Given the description of an element on the screen output the (x, y) to click on. 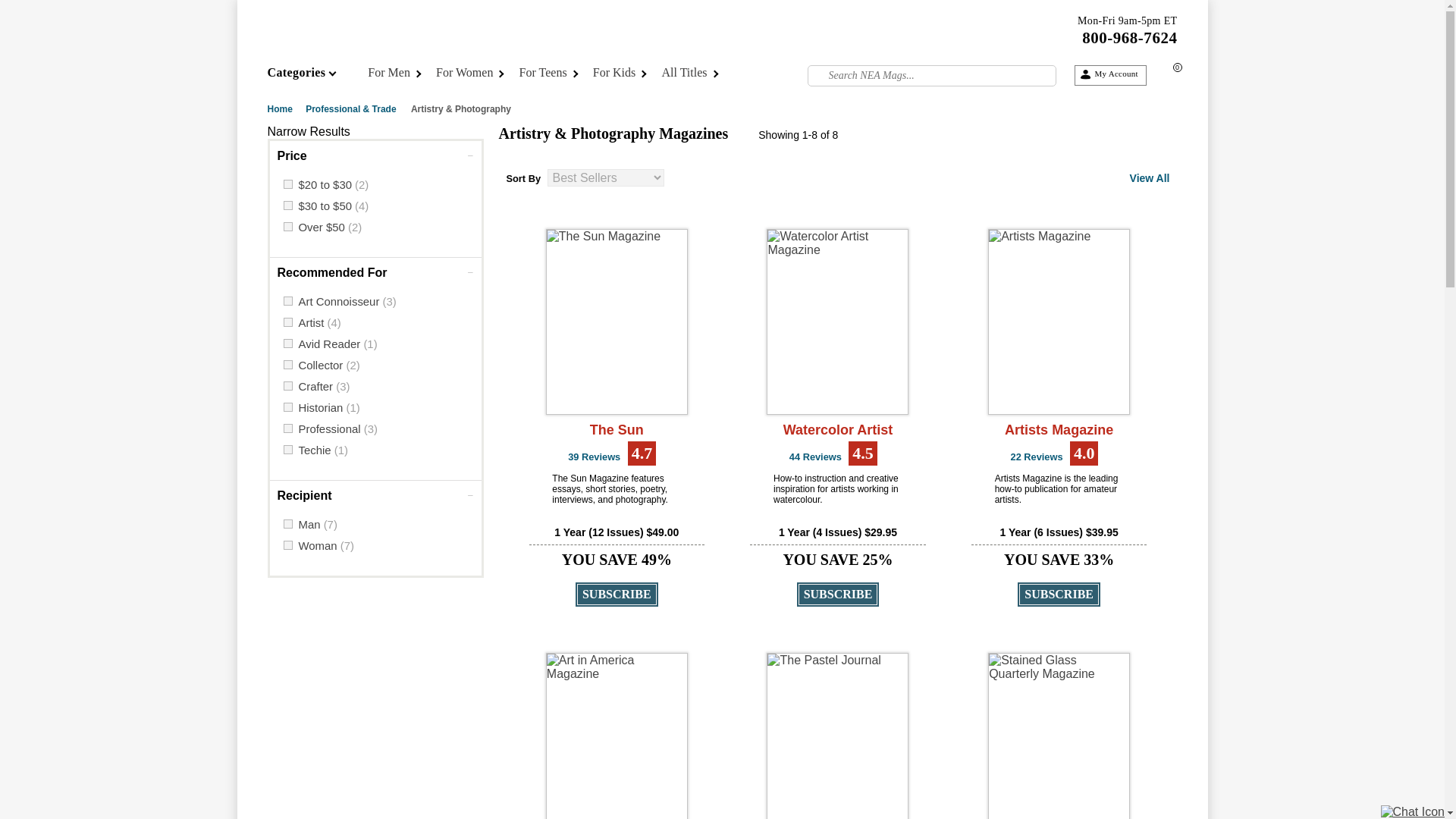
NEA Magazine Service (394, 43)
Stained Glass Quarterly (1058, 735)
Watercolor Artist (837, 321)
The Sun (616, 321)
Artists Magazine (1058, 321)
Subscribe (616, 594)
The Pastel Journal (837, 735)
800-968-7624 (1128, 37)
Subscribe (1059, 594)
Categories (312, 75)
